Given the description of an element on the screen output the (x, y) to click on. 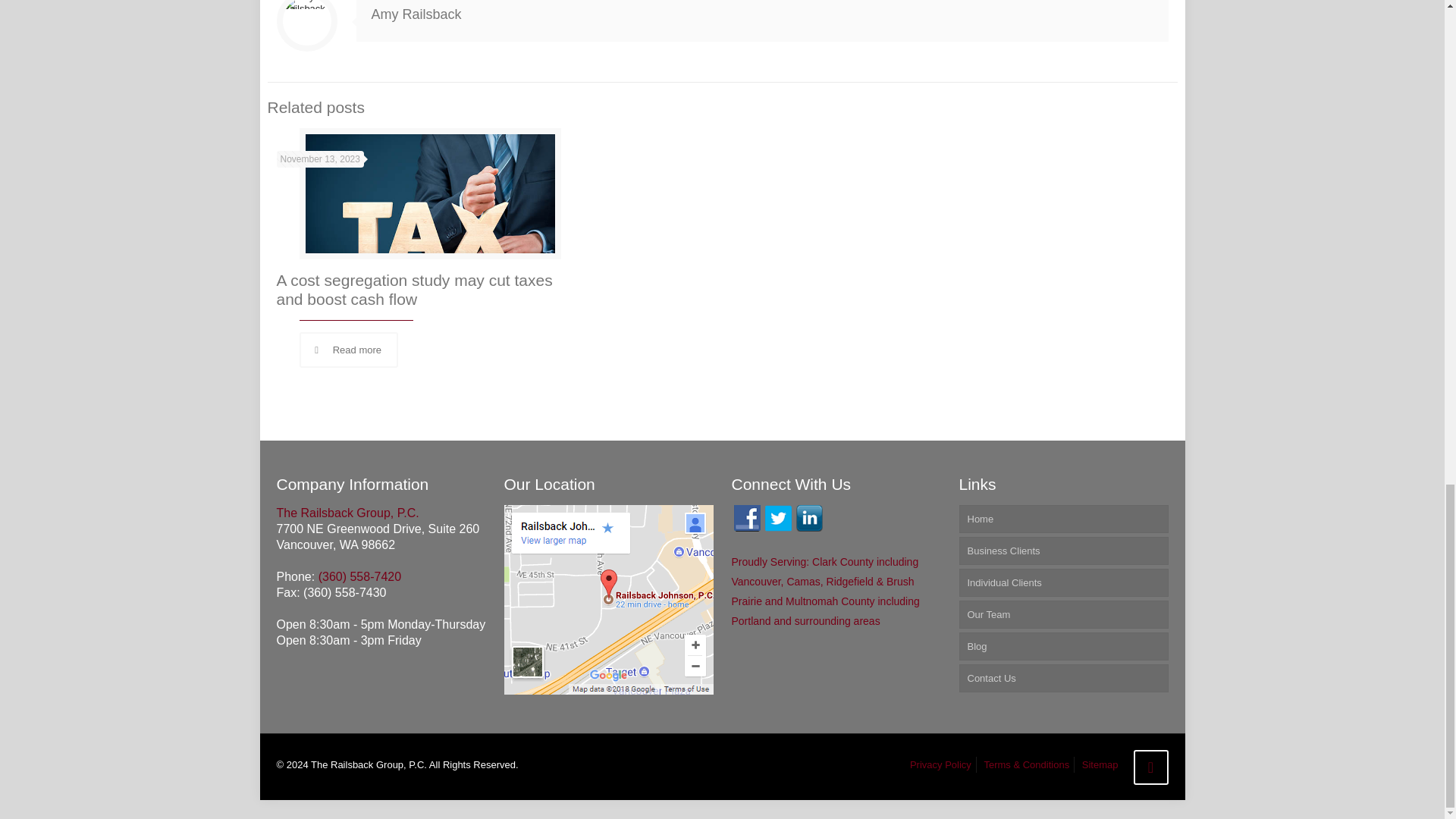
Twitter (777, 518)
Google Map (608, 690)
file.jpg (429, 199)
Facebook (746, 518)
Amy Railsback (416, 14)
CPA Firm Vancouver, WA 98662 by The Railsback Group, P.C. (347, 512)
Railsback Johnson, P.C. on Google Maps (608, 599)
LinkedIn (809, 518)
